Given the description of an element on the screen output the (x, y) to click on. 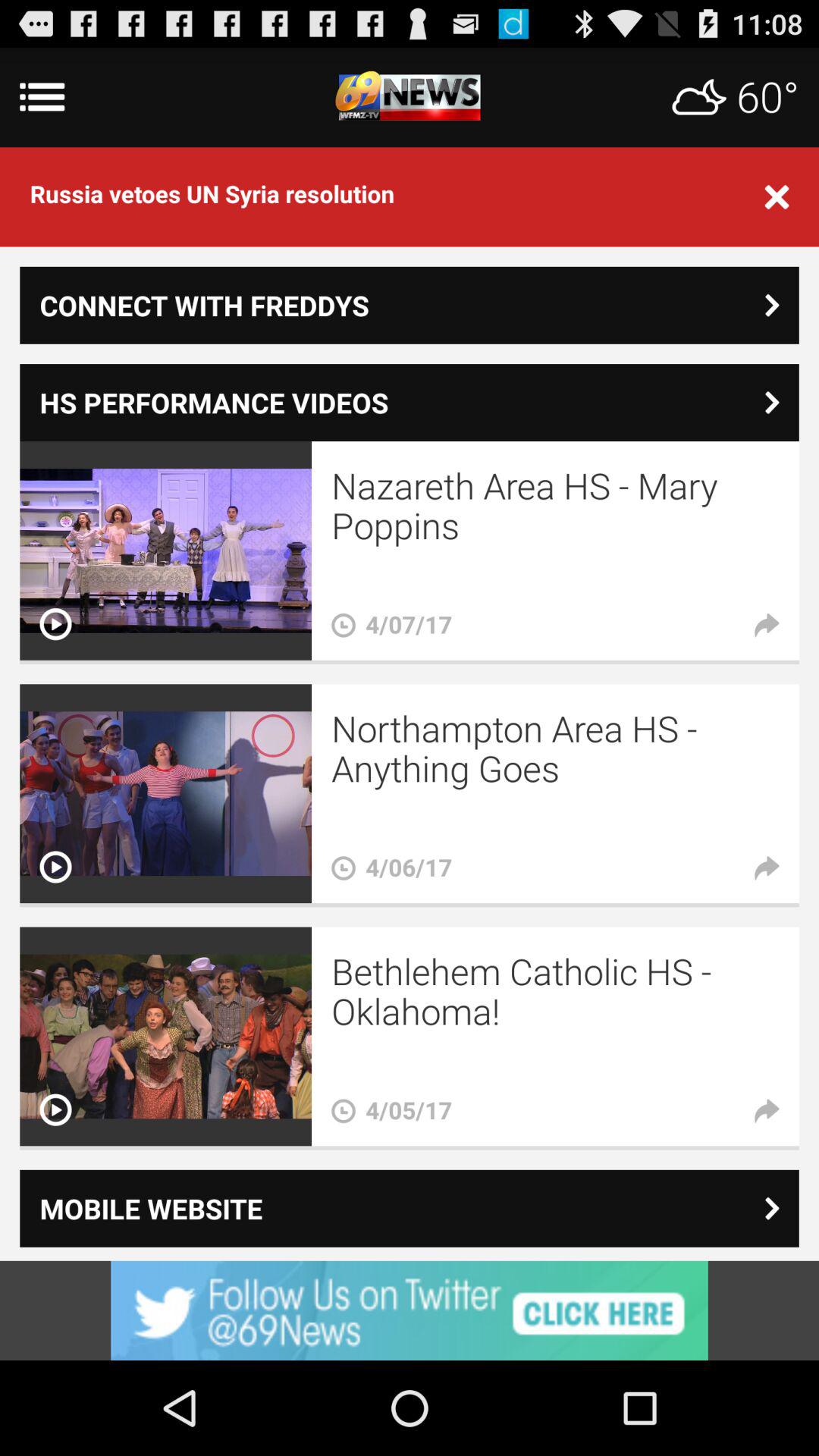
go to home page (409, 97)
